Given the description of an element on the screen output the (x, y) to click on. 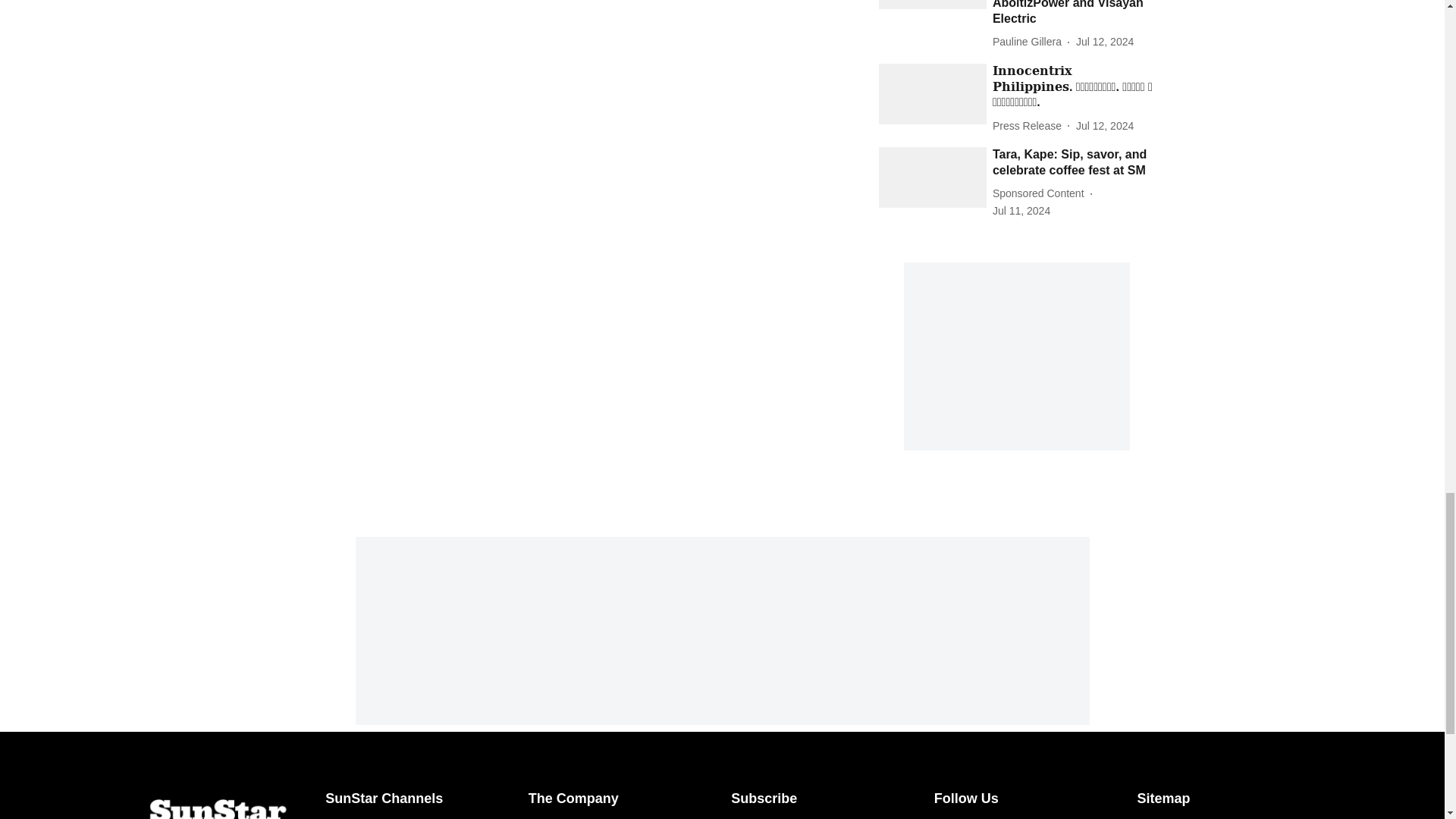
2024-07-11 00:59 (1020, 211)
2024-07-12 07:00 (1104, 41)
2024-07-12 02:00 (1104, 125)
